Given the description of an element on the screen output the (x, y) to click on. 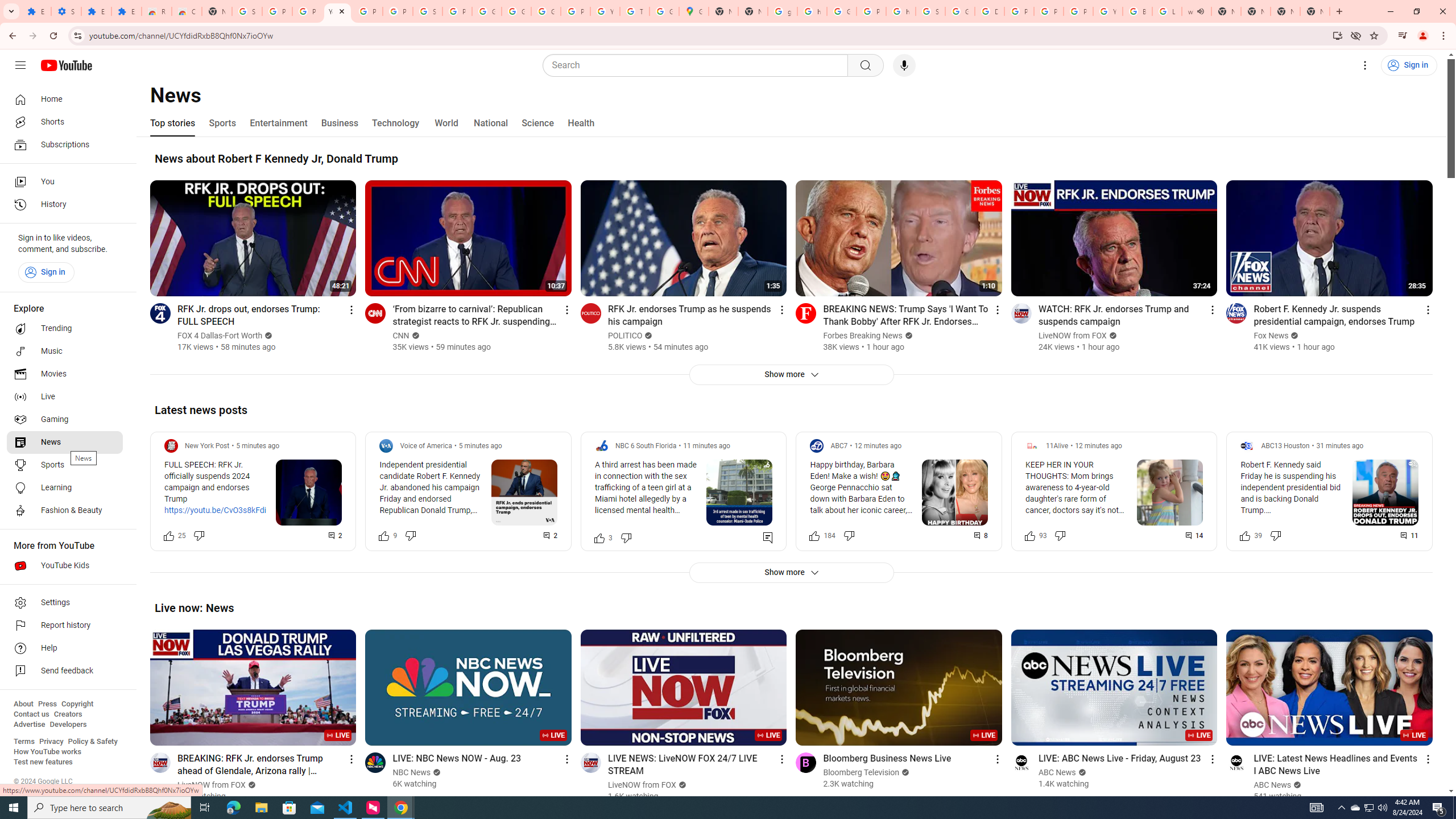
NBC 6 South Florida (645, 445)
Shorts (64, 121)
Music (64, 350)
About (23, 703)
https://scholar.google.com/ (900, 11)
Voice of America (426, 445)
Like this post along with 39 other people (1245, 534)
Sports (221, 122)
Like this post along with 25 other people (168, 534)
Gaming (64, 419)
